Given the description of an element on the screen output the (x, y) to click on. 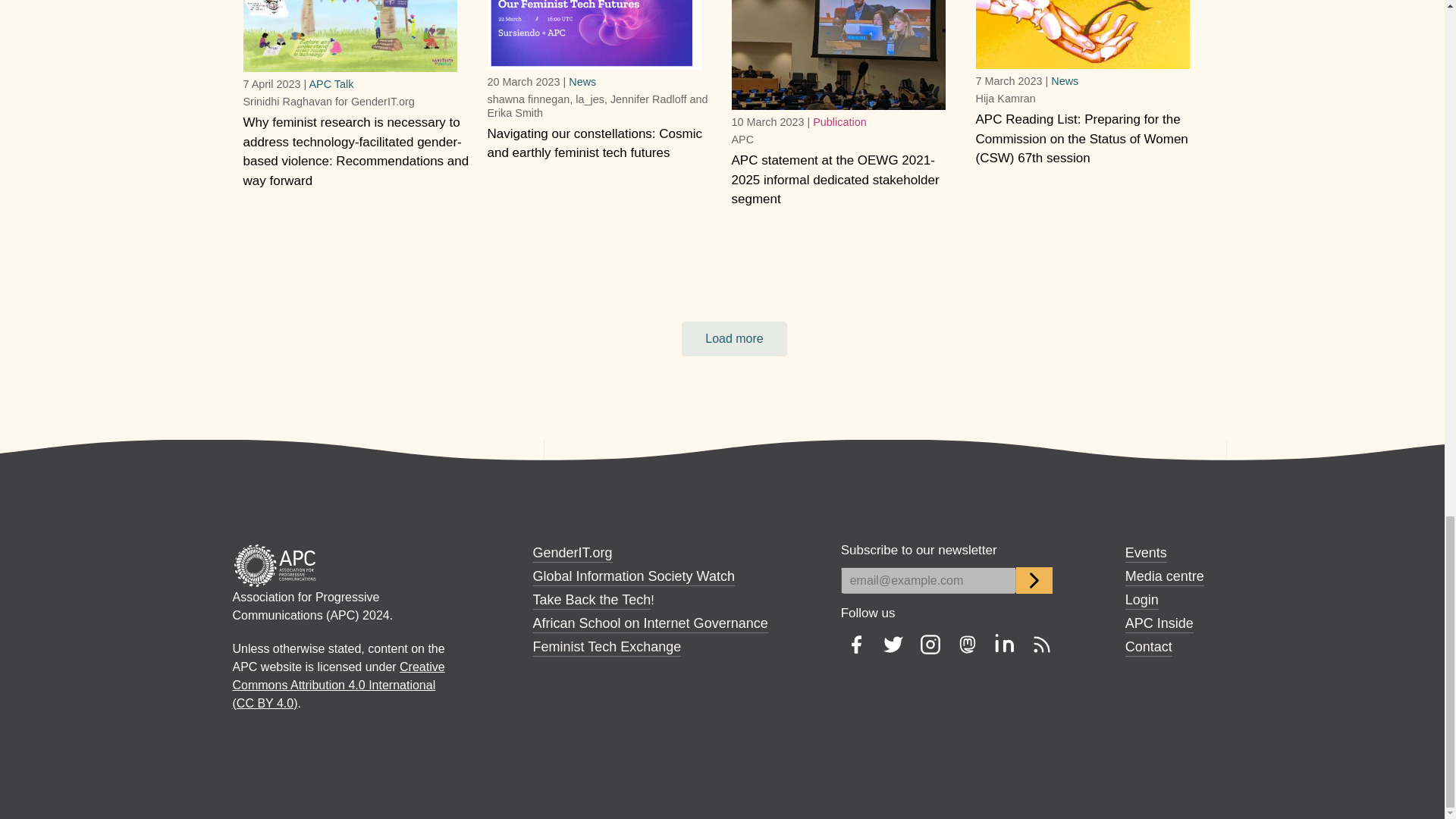
Instagram (930, 644)
Mastodon (967, 644)
Intranet for APC members associates and staff (1159, 623)
LinkedIn (1004, 644)
Facebook (855, 644)
RSS (1041, 644)
Homepage (274, 563)
Twitter (893, 644)
For site managers (1141, 599)
